Given the description of an element on the screen output the (x, y) to click on. 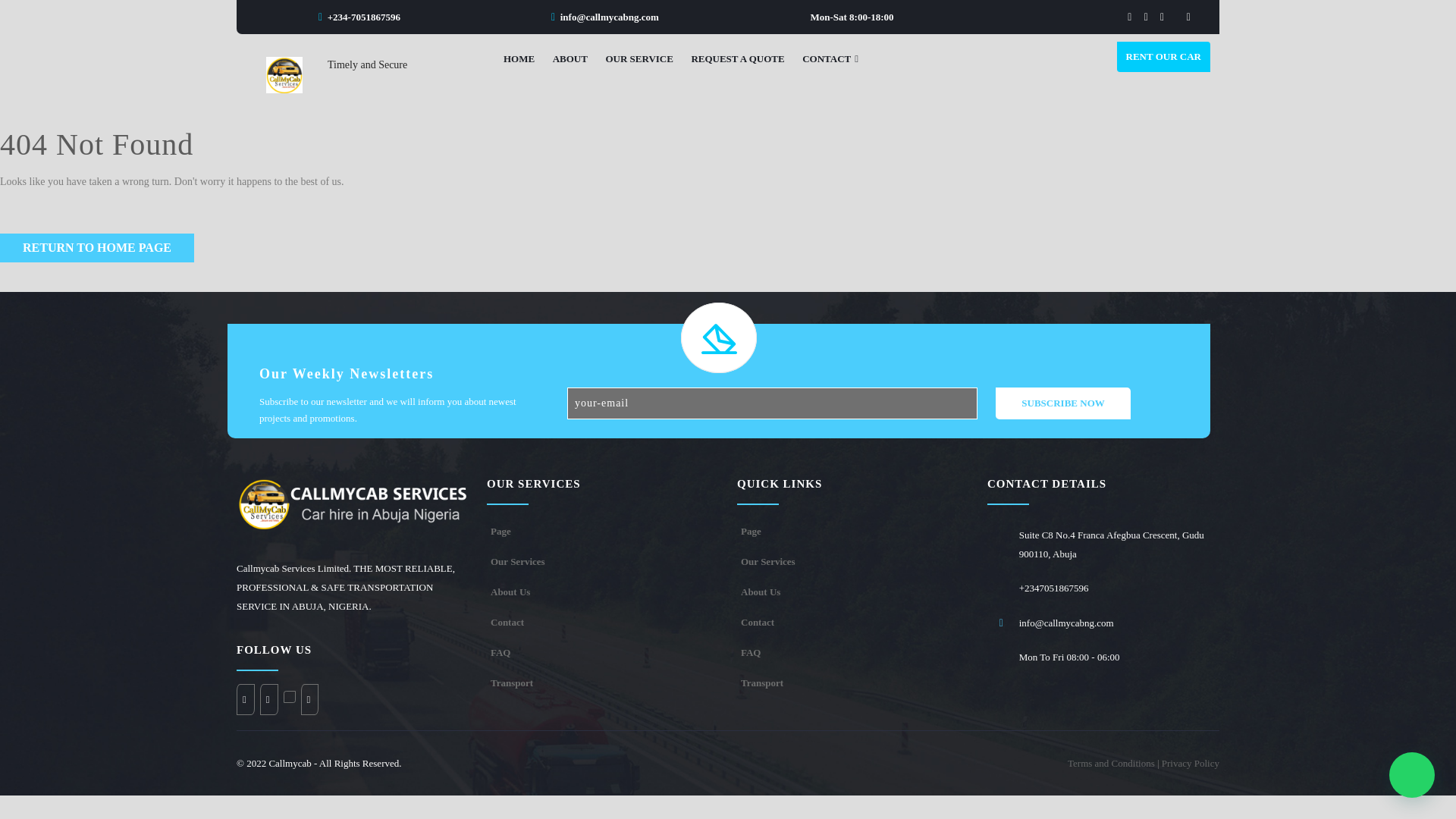
ABOUT (570, 58)
Transport (511, 682)
RENT OUR CAR (1162, 56)
REQUEST A QUOTE (737, 58)
About Us (509, 591)
RETURN TO HOME PAGE (96, 247)
CONTACT (830, 58)
FAQ (500, 652)
Page (751, 531)
SUBSCRIBE NOW (1062, 403)
